Given the description of an element on the screen output the (x, y) to click on. 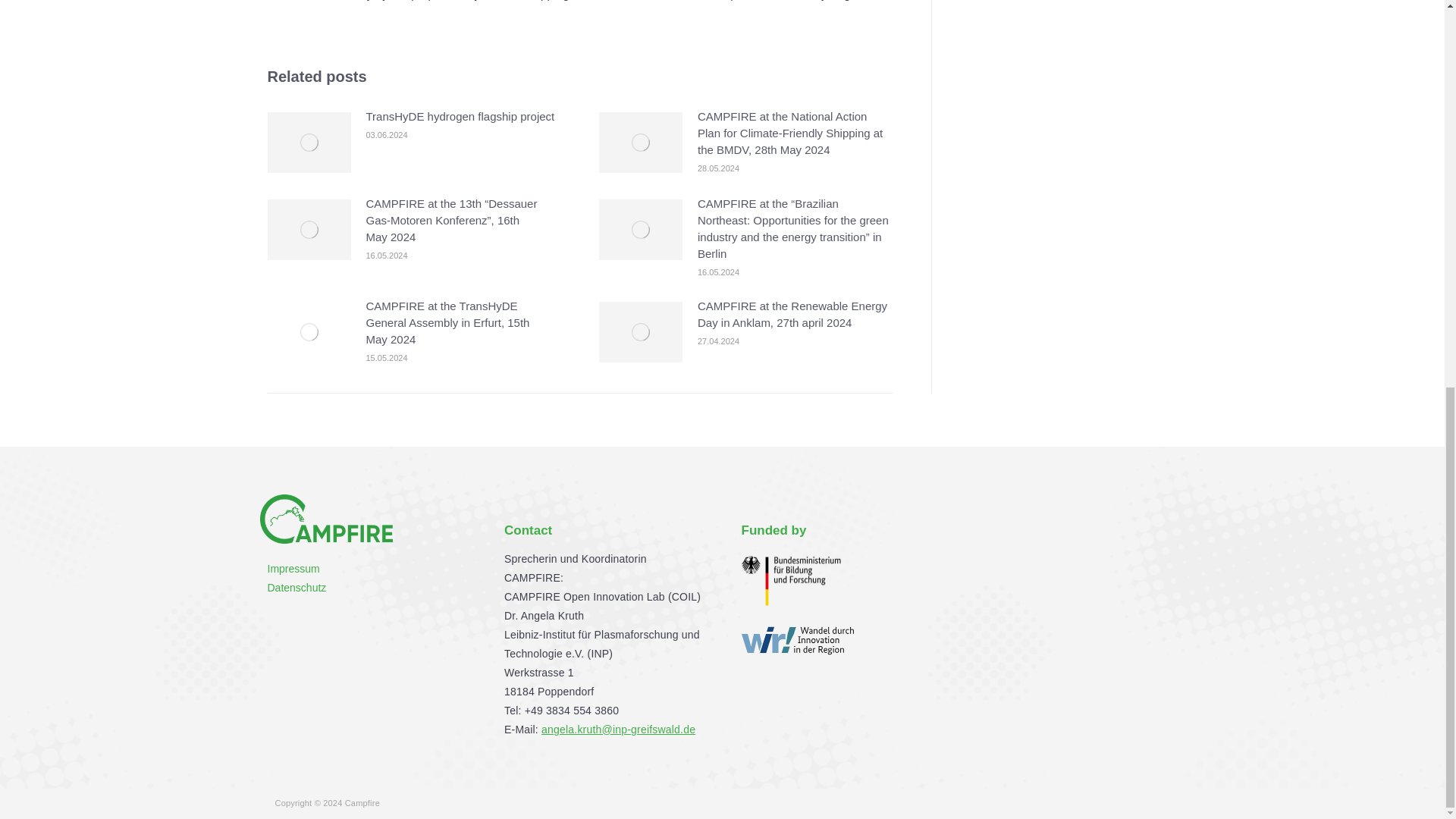
TransHyDE hydrogen flagship project (459, 115)
